Given the description of an element on the screen output the (x, y) to click on. 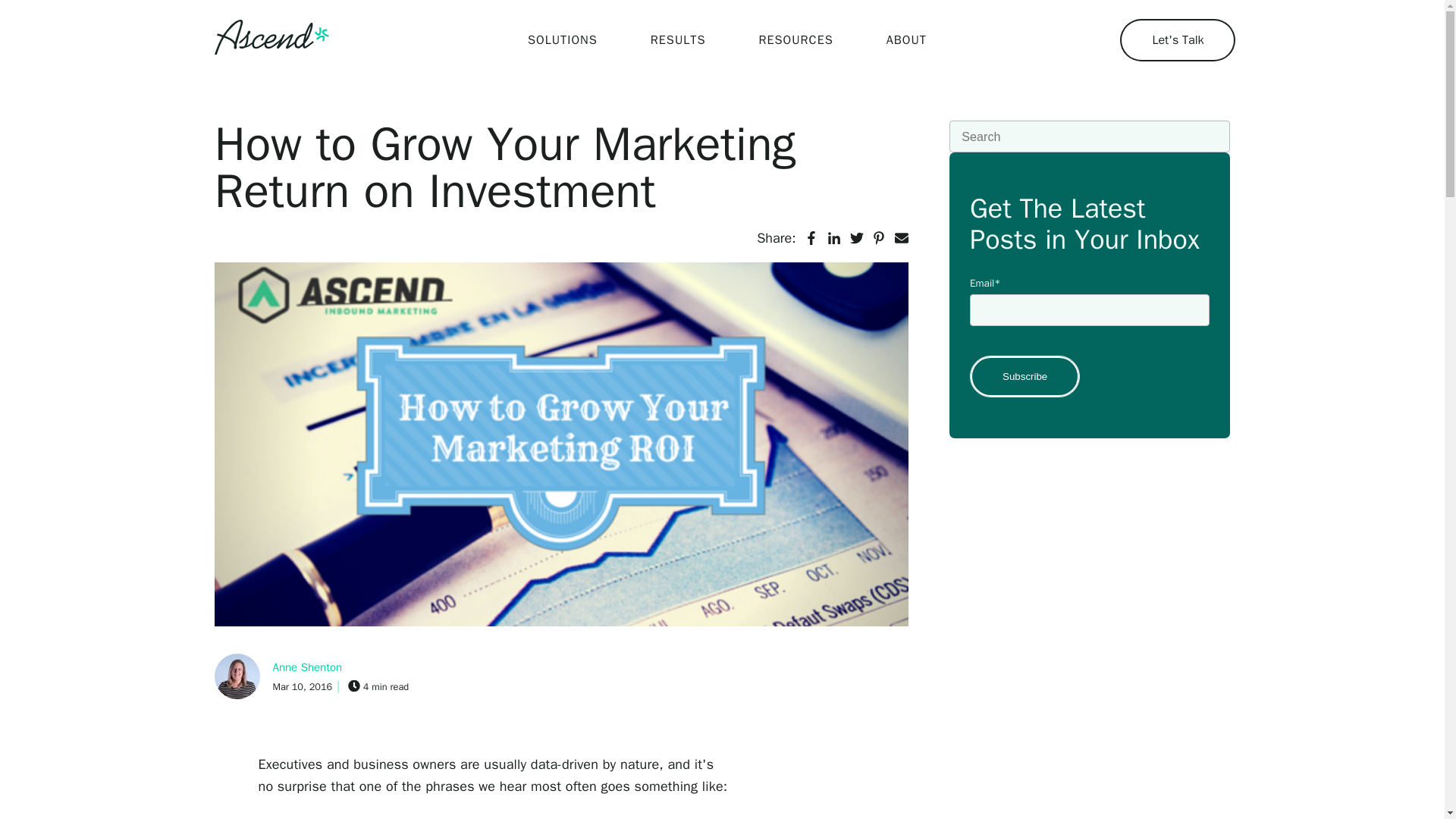
ABOUT (906, 39)
Let's Talk (1176, 39)
Subscribe (1024, 376)
SOLUTIONS (562, 39)
RESULTS (678, 39)
Anne Shenton (307, 668)
Subscribe (1024, 376)
RESOURCES (795, 39)
